Given the description of an element on the screen output the (x, y) to click on. 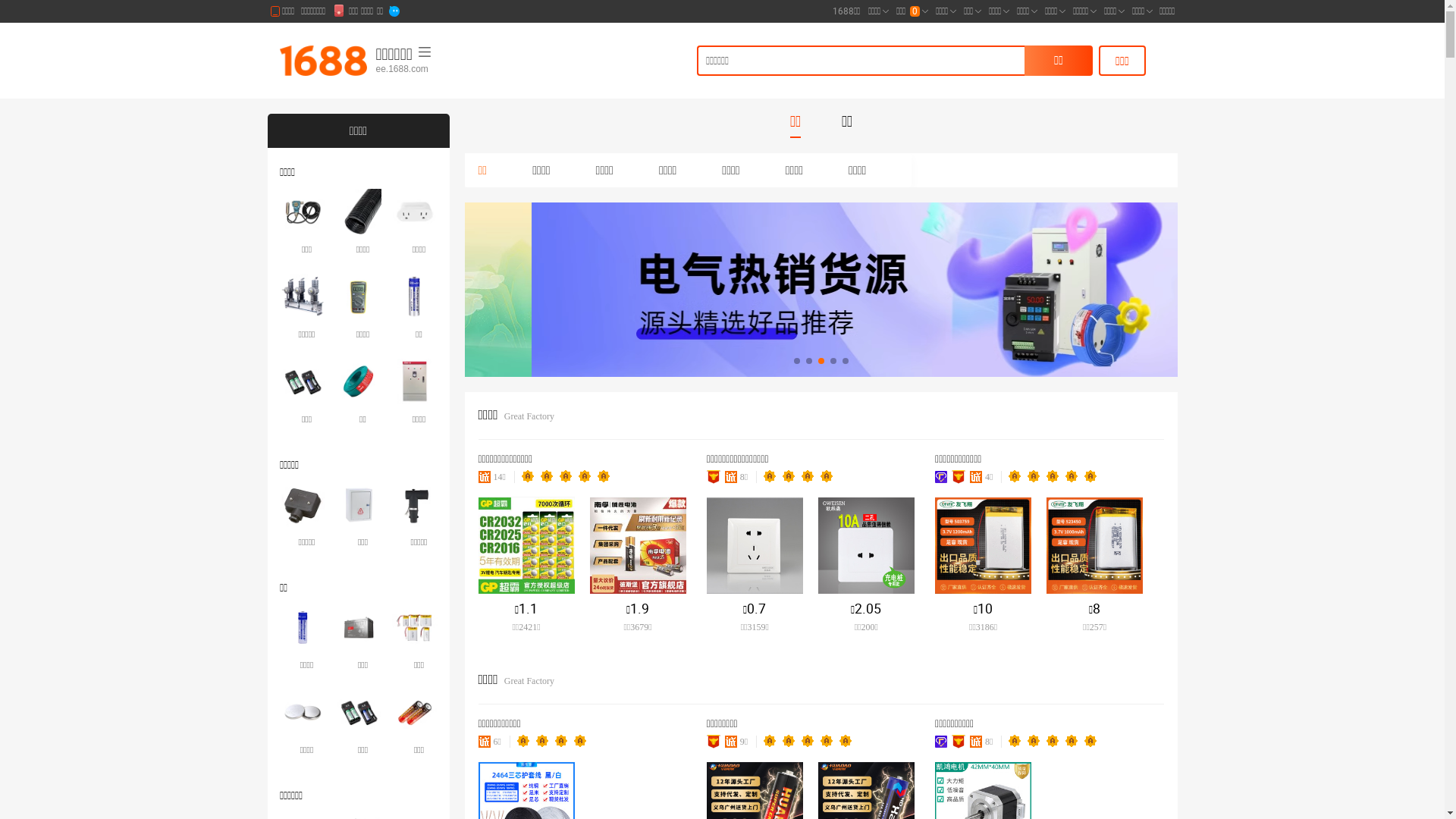
ee.1688.com Element type: text (451, 69)
